Given the description of an element on the screen output the (x, y) to click on. 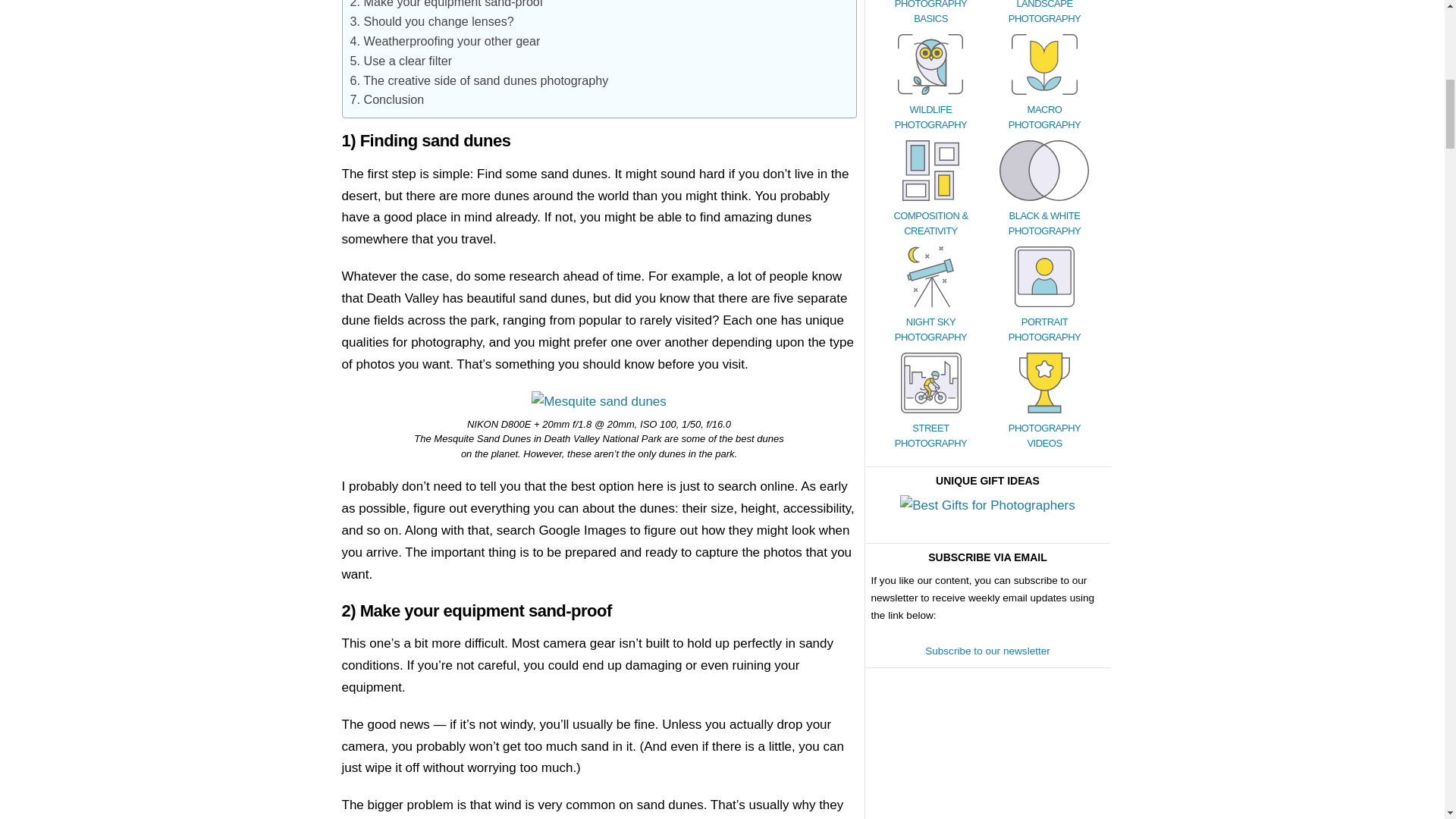
The creative side of sand dunes photography (479, 79)
Weatherproofing your other gear (445, 40)
Conclusion (387, 99)
Should you change lenses? (431, 20)
The creative side of sand dunes photography (479, 79)
Should you change lenses? (431, 20)
Conclusion (387, 99)
Weatherproofing your other gear (445, 40)
Make your equipment sand-proof (446, 4)
Use a clear filter (401, 60)
